Given the description of an element on the screen output the (x, y) to click on. 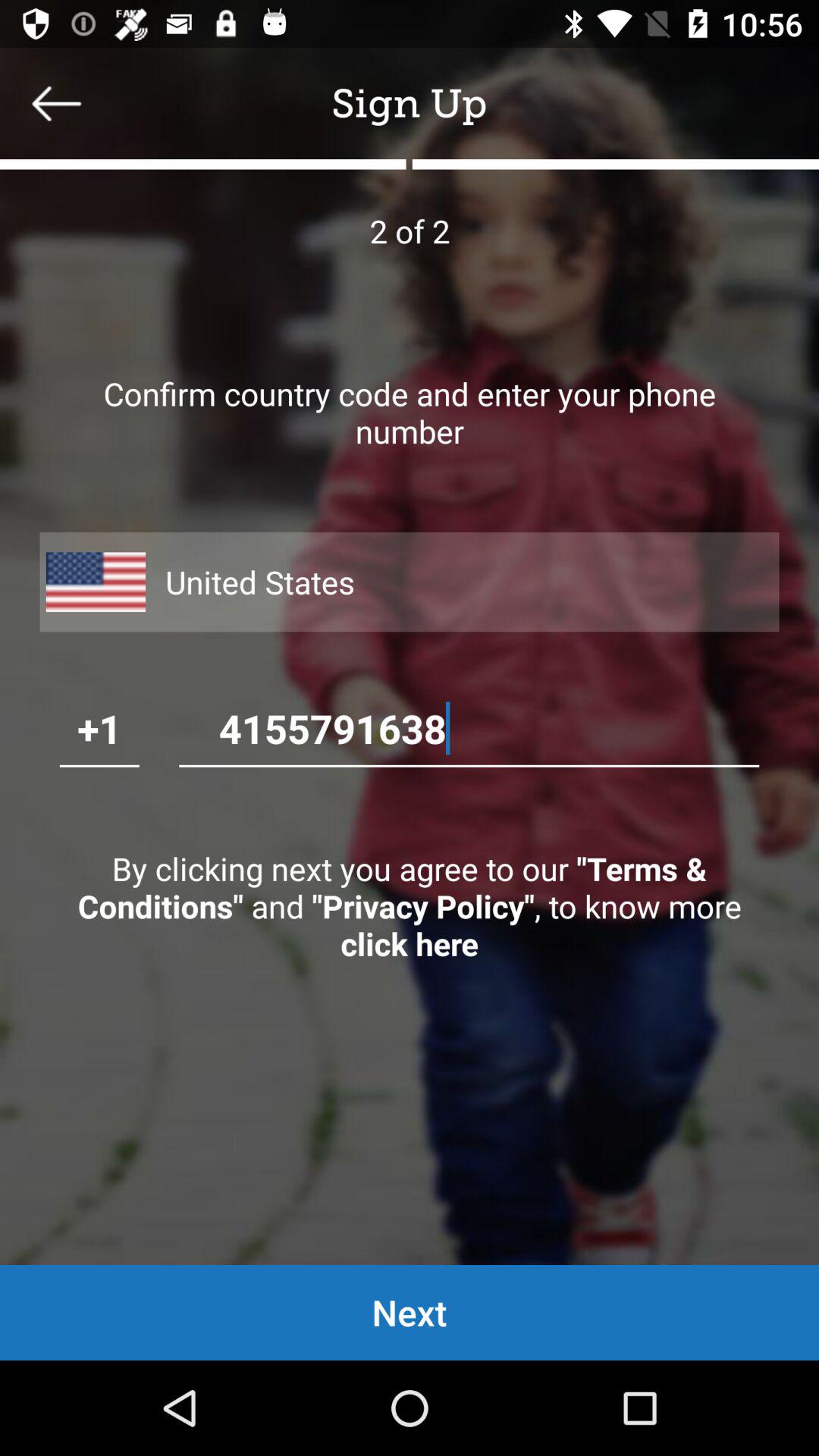
back (56, 103)
